Given the description of an element on the screen output the (x, y) to click on. 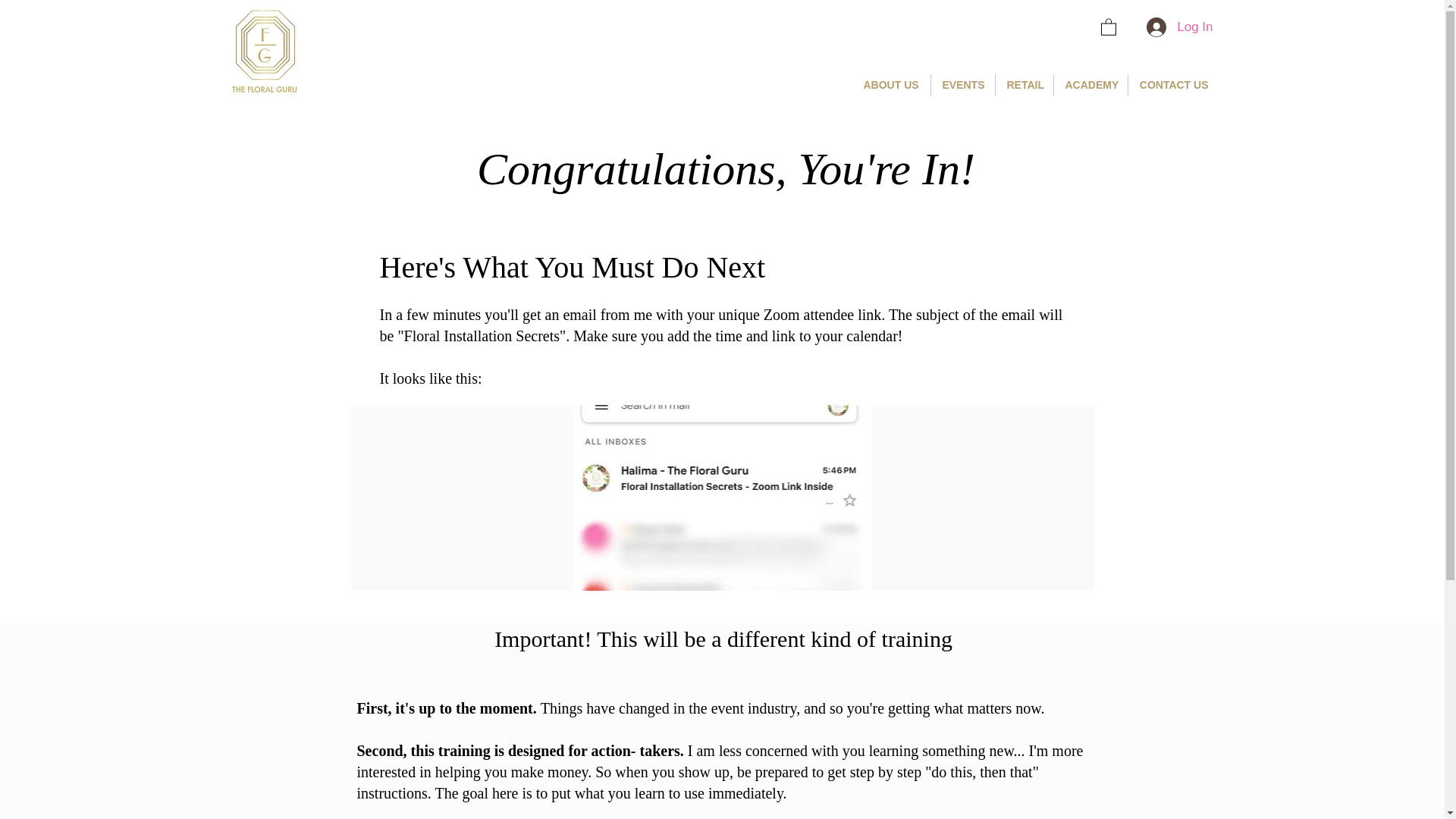
CONTACT US (1174, 85)
ACADEMY (1090, 85)
Log In (1179, 26)
RETAIL (1023, 85)
ABOUT US (890, 85)
EVENTS (962, 85)
